Given the description of an element on the screen output the (x, y) to click on. 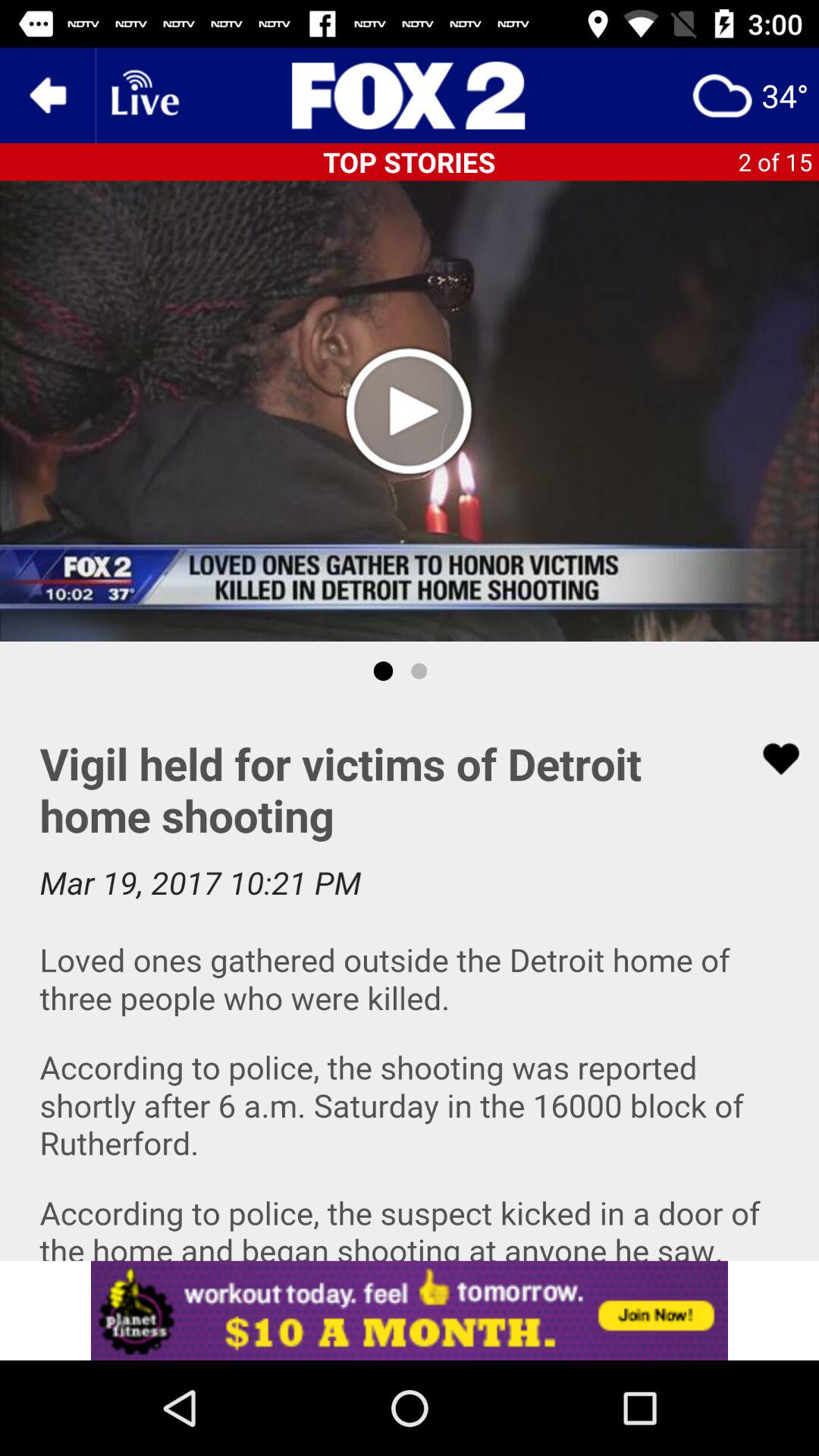
watch live fox2 (143, 95)
